Given the description of an element on the screen output the (x, y) to click on. 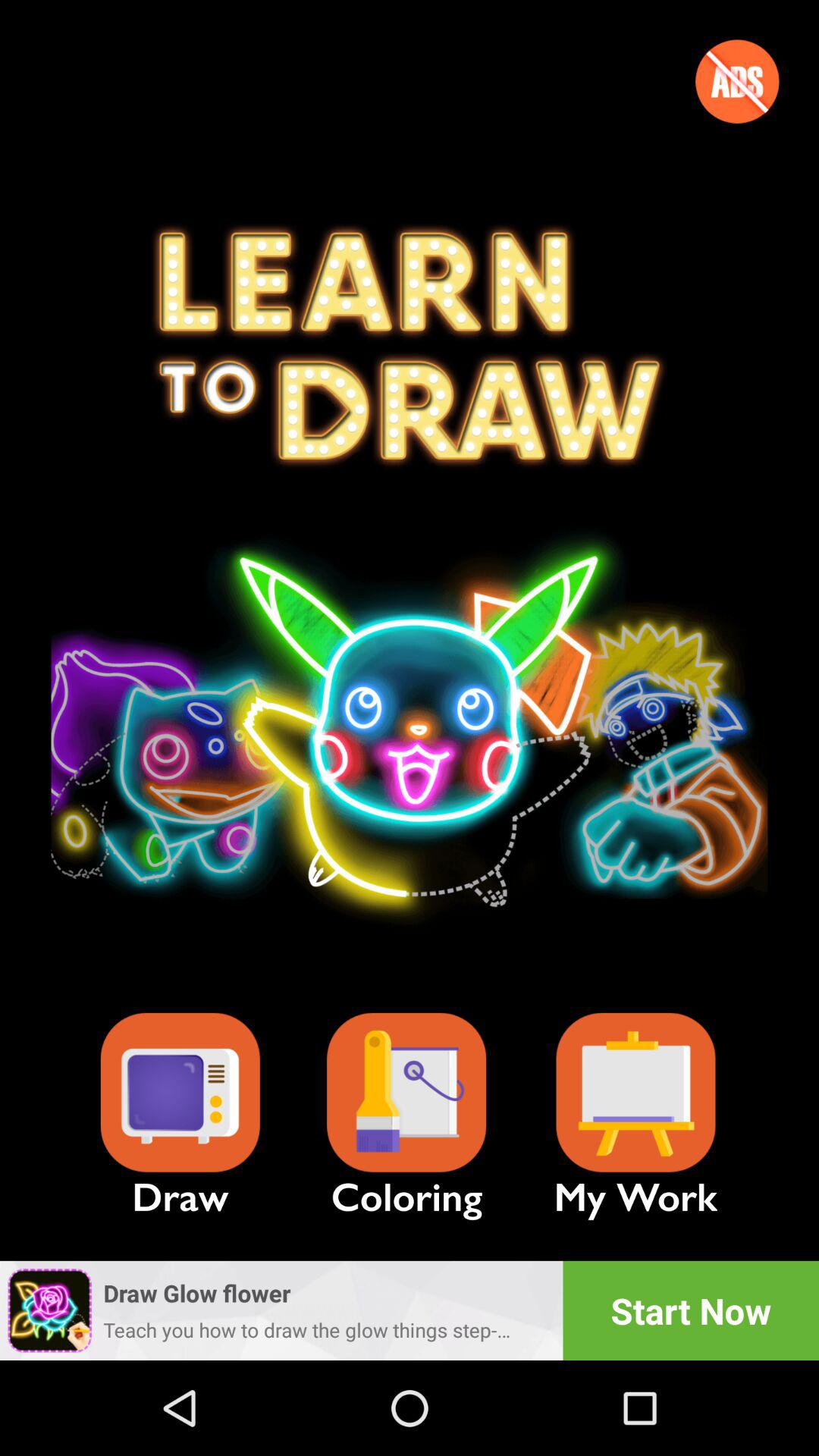
launch icon to the left of the my work item (406, 1092)
